Given the description of an element on the screen output the (x, y) to click on. 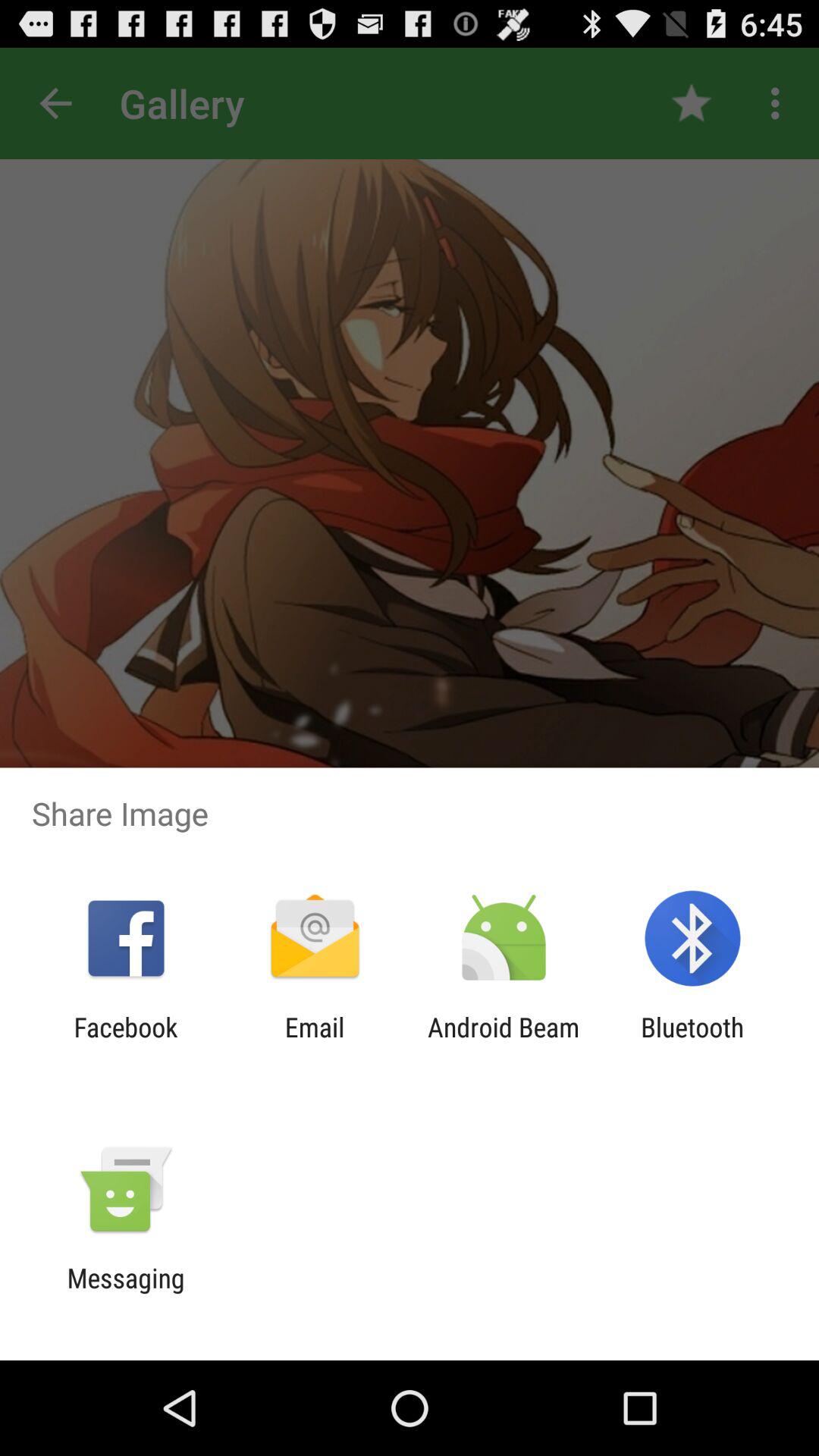
turn off the app next to the email app (503, 1042)
